Given the description of an element on the screen output the (x, y) to click on. 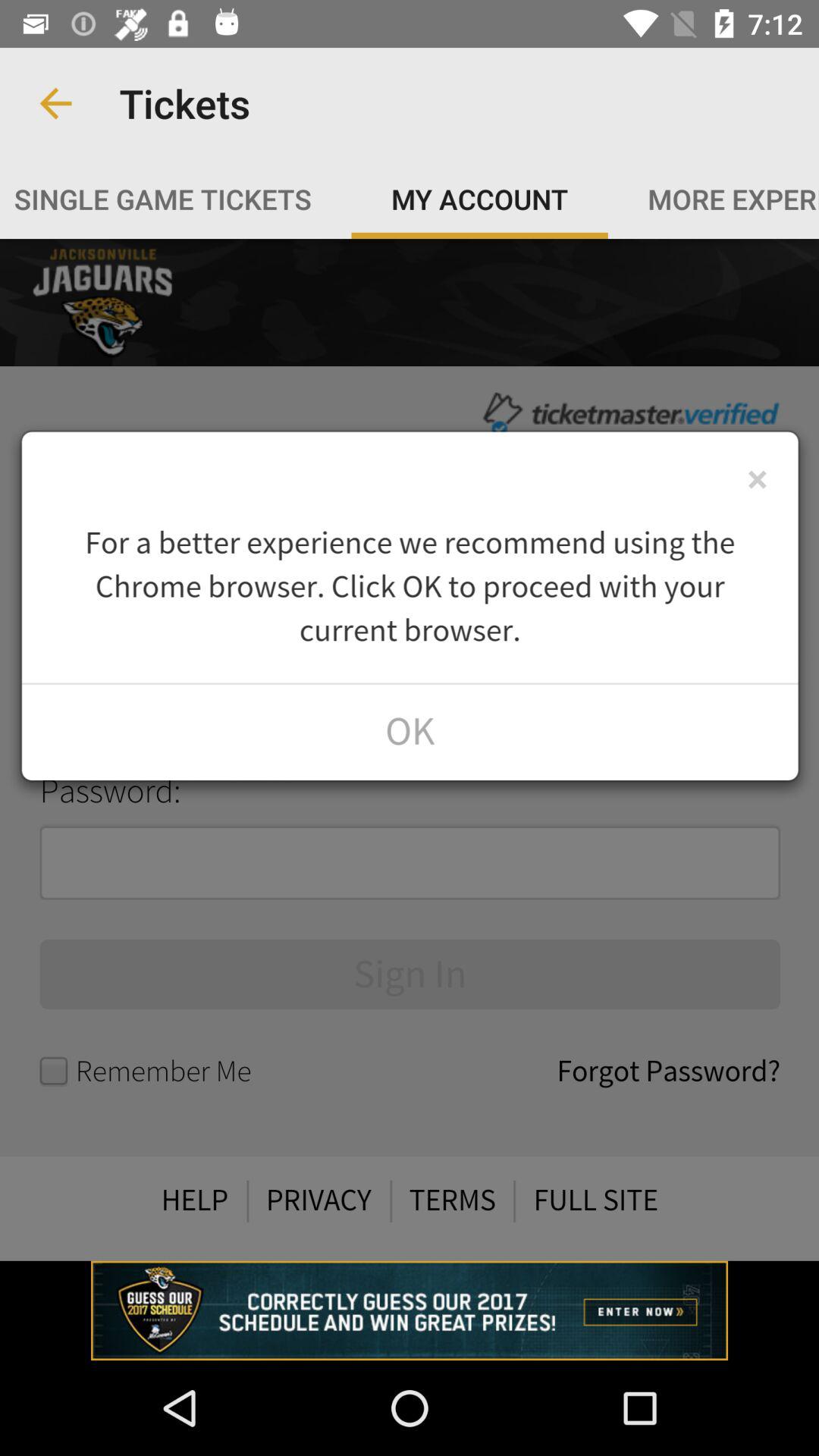
forward (409, 749)
